Given the description of an element on the screen output the (x, y) to click on. 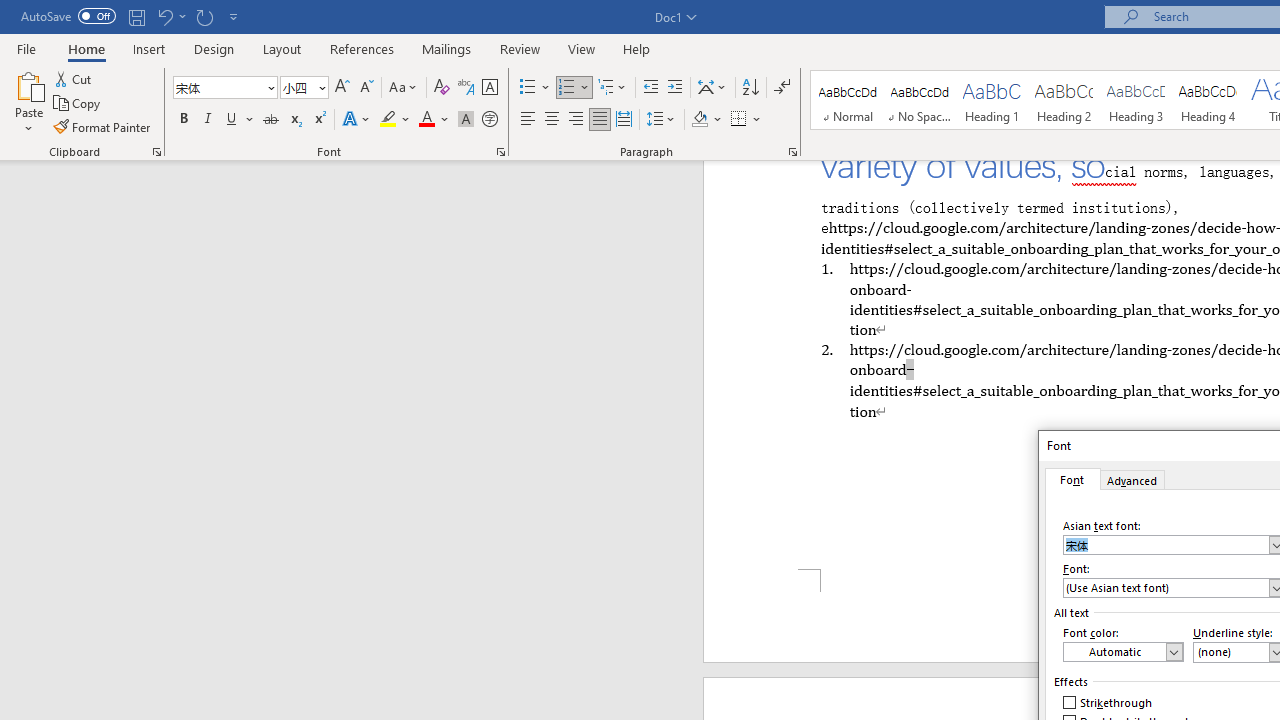
References (362, 48)
Office Clipboard... (156, 151)
Font... (500, 151)
System (10, 11)
Paste (28, 102)
Font (1071, 479)
Asian Layout (712, 87)
Copy (78, 103)
Underline (232, 119)
Open (320, 87)
